Given the description of an element on the screen output the (x, y) to click on. 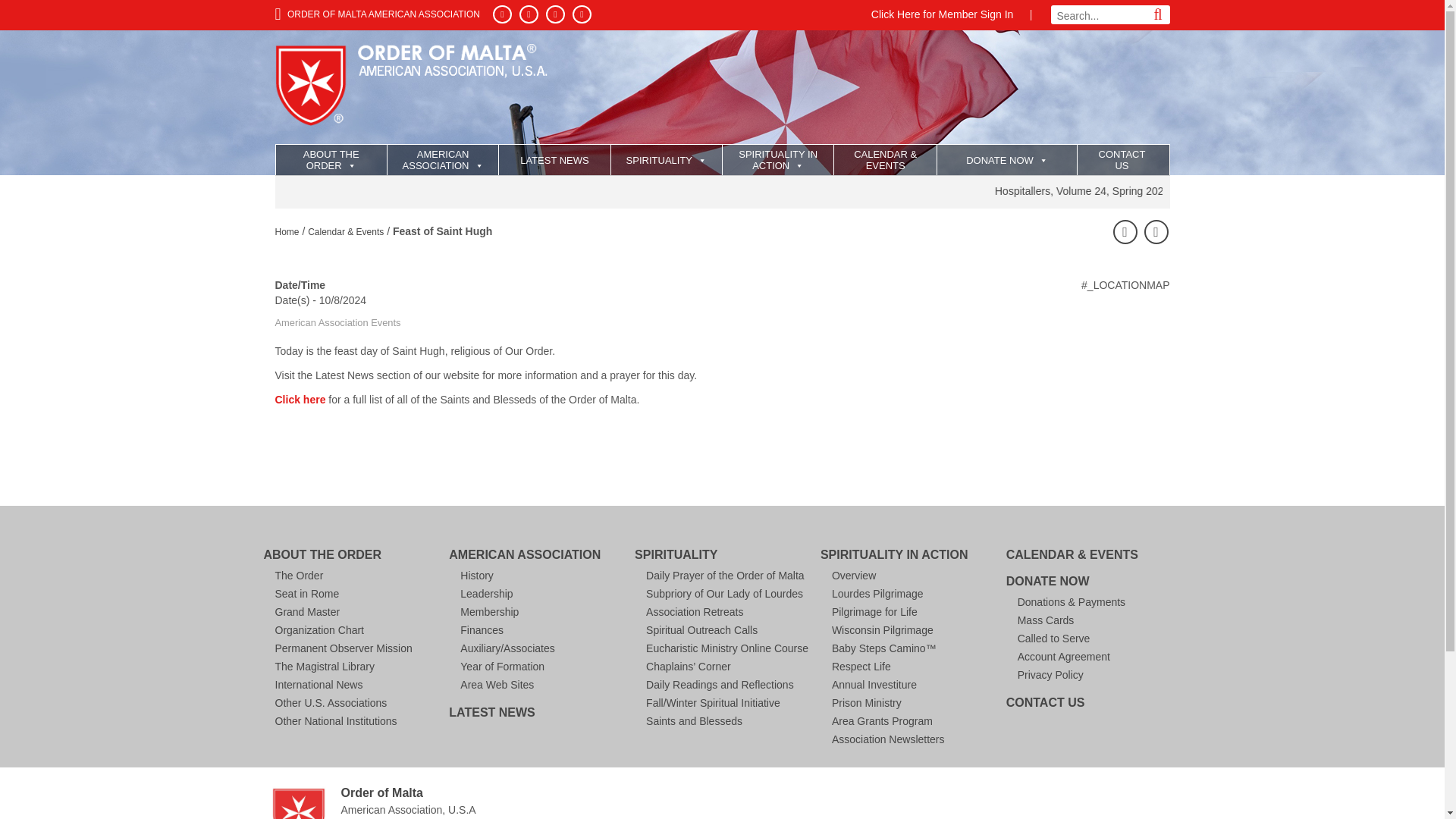
Order of Malta (416, 91)
Click Here for Member Sign In (941, 14)
ABOUT THE ORDER (331, 159)
ORDER OF MALTA AMERICAN ASSOCIATION (377, 14)
AMERICAN ASSOCIATION (442, 159)
